Given the description of an element on the screen output the (x, y) to click on. 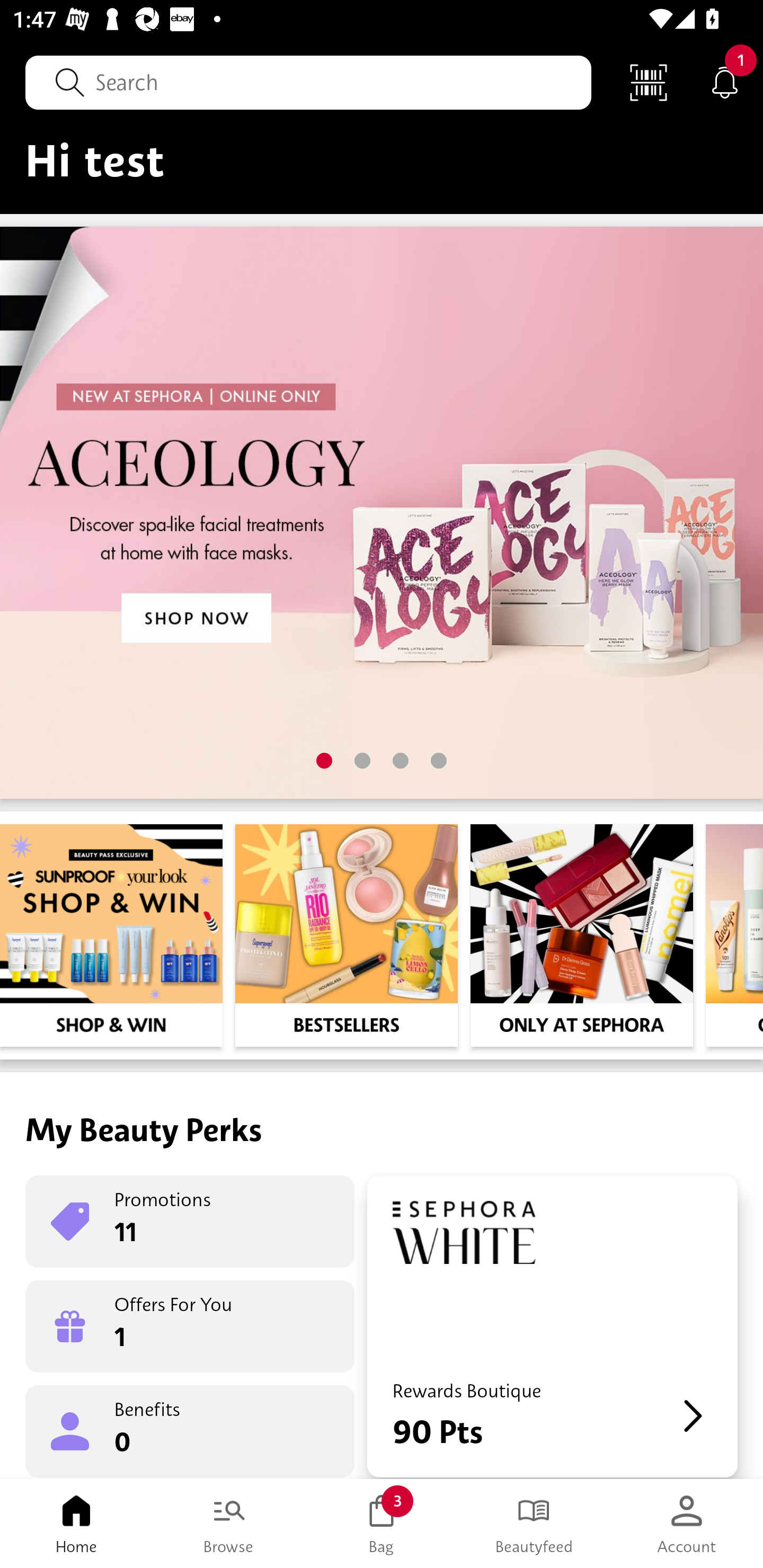
Scan Code (648, 81)
Notifications (724, 81)
Search (308, 81)
Promotions 11 (189, 1221)
Rewards Boutique 90 Pts (552, 1326)
Offers For You 1 (189, 1326)
Benefits 0 (189, 1430)
Browse (228, 1523)
Bag 3 Bag (381, 1523)
Beautyfeed (533, 1523)
Account (686, 1523)
